Given the description of an element on the screen output the (x, y) to click on. 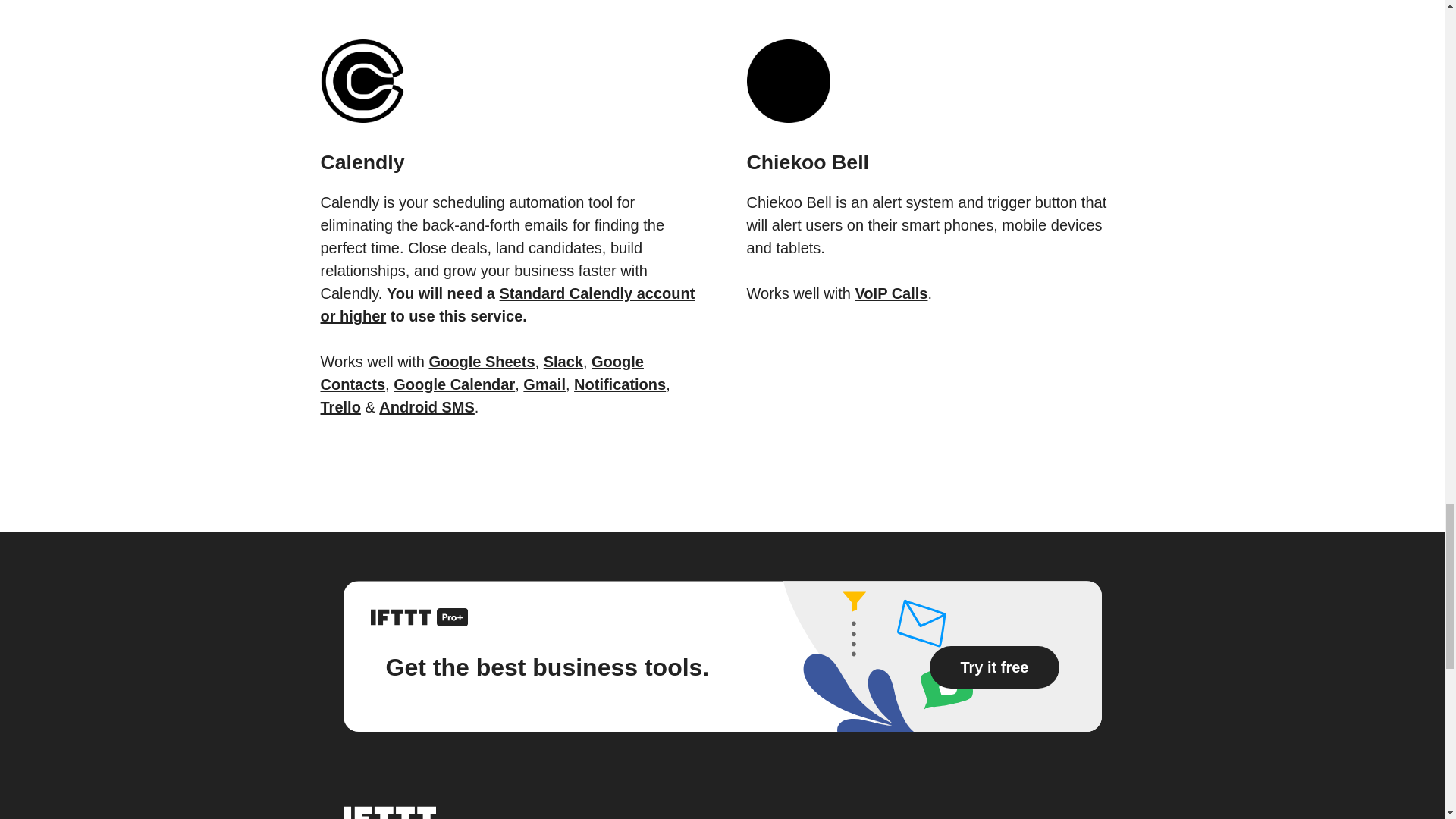
Calendly (508, 142)
Google Sheets (482, 361)
Standard Calendly account or higher (507, 304)
